Given the description of an element on the screen output the (x, y) to click on. 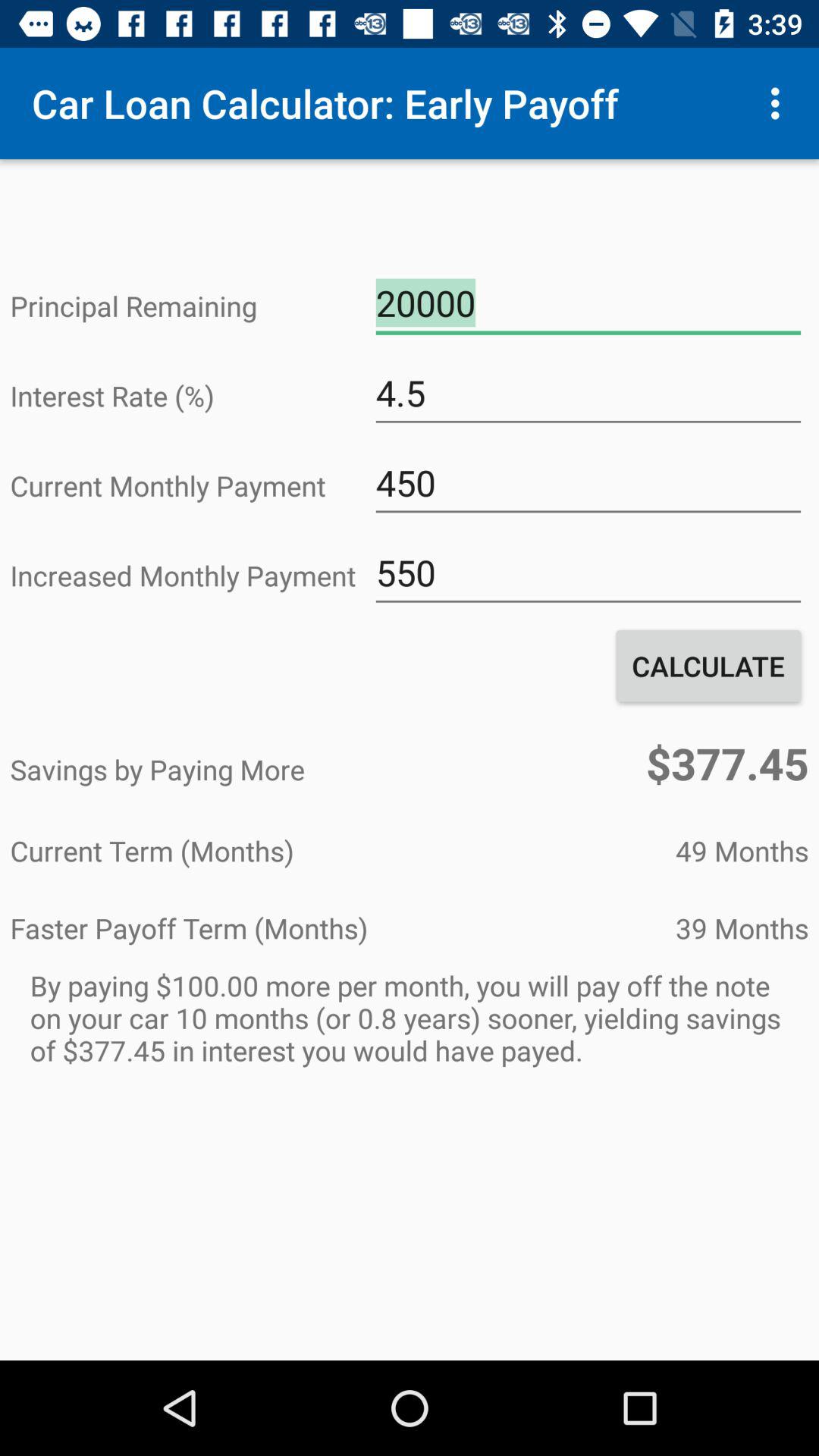
choose item next to car loan calculator item (779, 103)
